Given the description of an element on the screen output the (x, y) to click on. 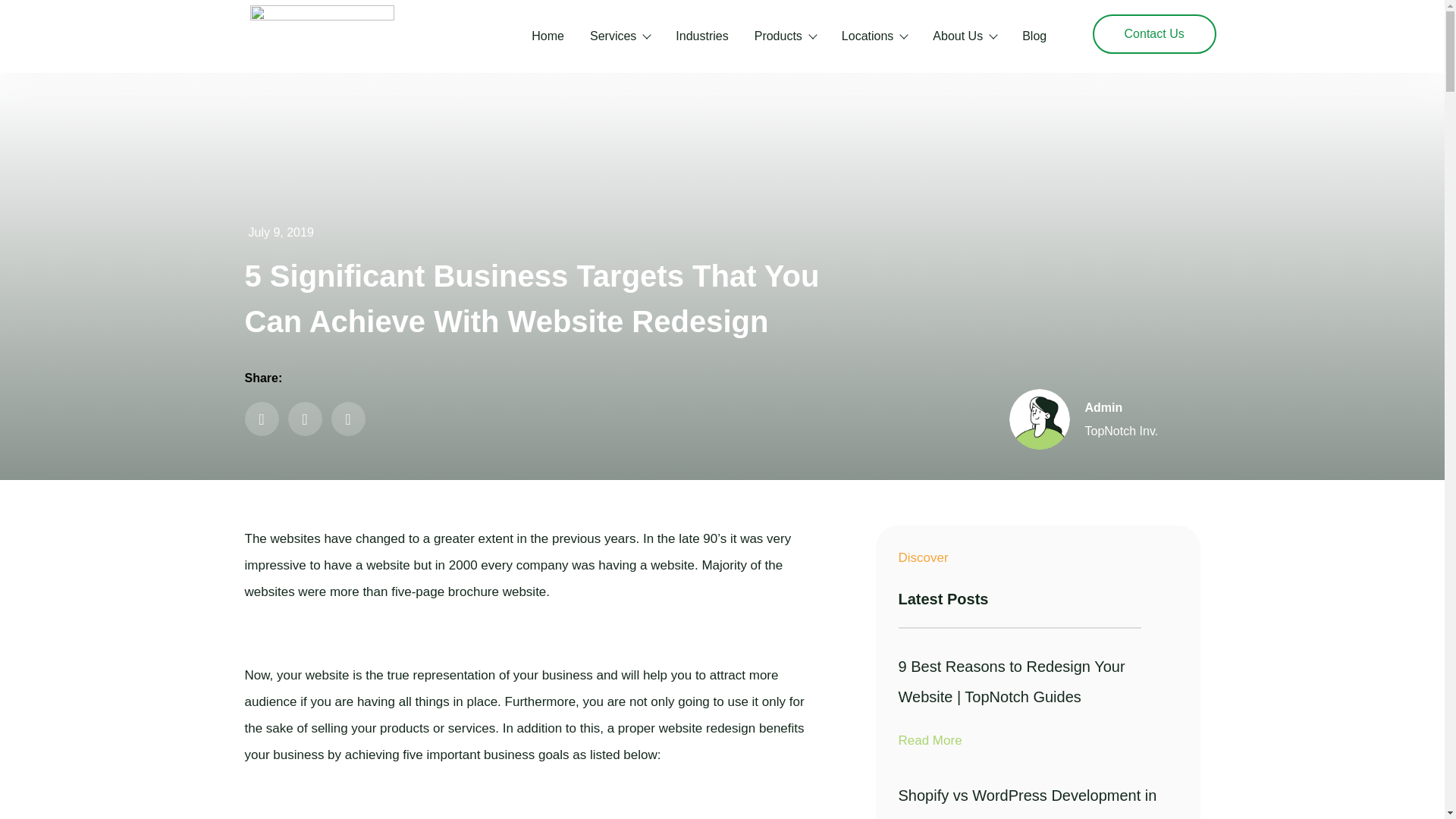
July 9, 2019 (278, 232)
Locations (874, 36)
Contact Us (1154, 34)
